Given the description of an element on the screen output the (x, y) to click on. 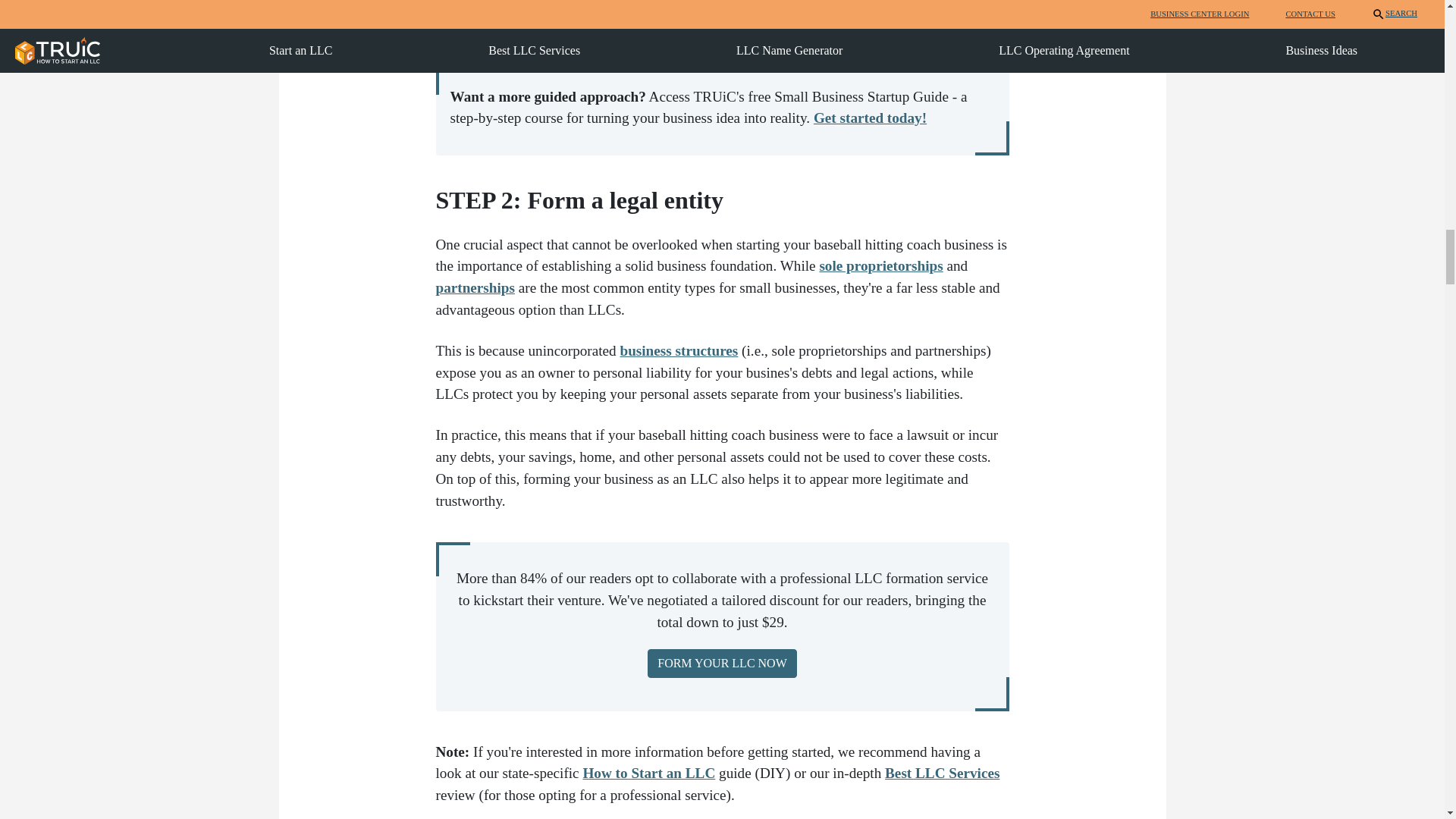
Link to Sole Proprietorship guide (880, 265)
Learn how to form an LLC (648, 772)
Link to Partnership guide (474, 287)
Link to How to Choose a Business Structure (679, 350)
Link to The Best LLC Services Compared 2024 (941, 772)
